Given the description of an element on the screen output the (x, y) to click on. 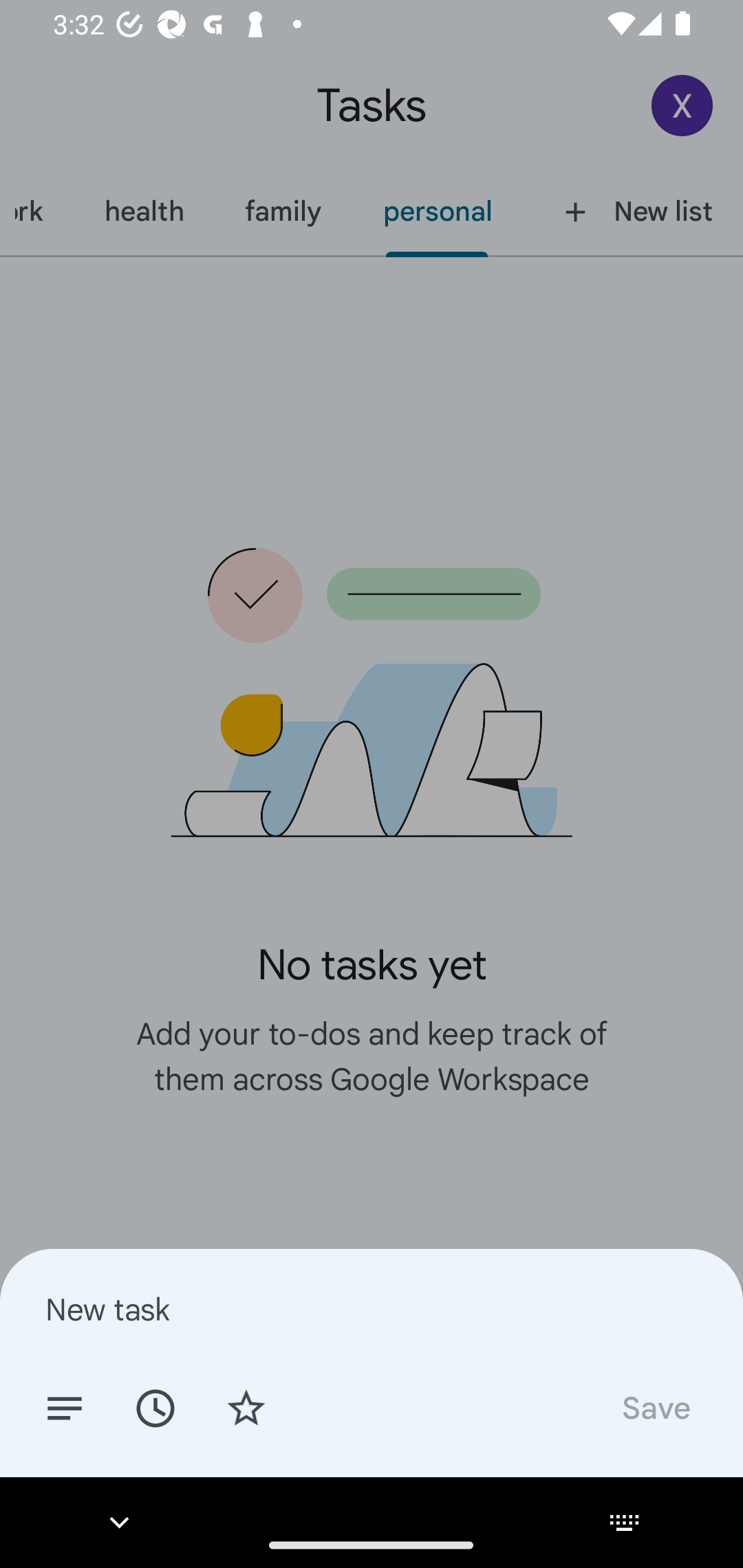
New task (371, 1308)
Save (655, 1407)
Add details (64, 1407)
Set date/time (154, 1407)
Add star (245, 1407)
